Given the description of an element on the screen output the (x, y) to click on. 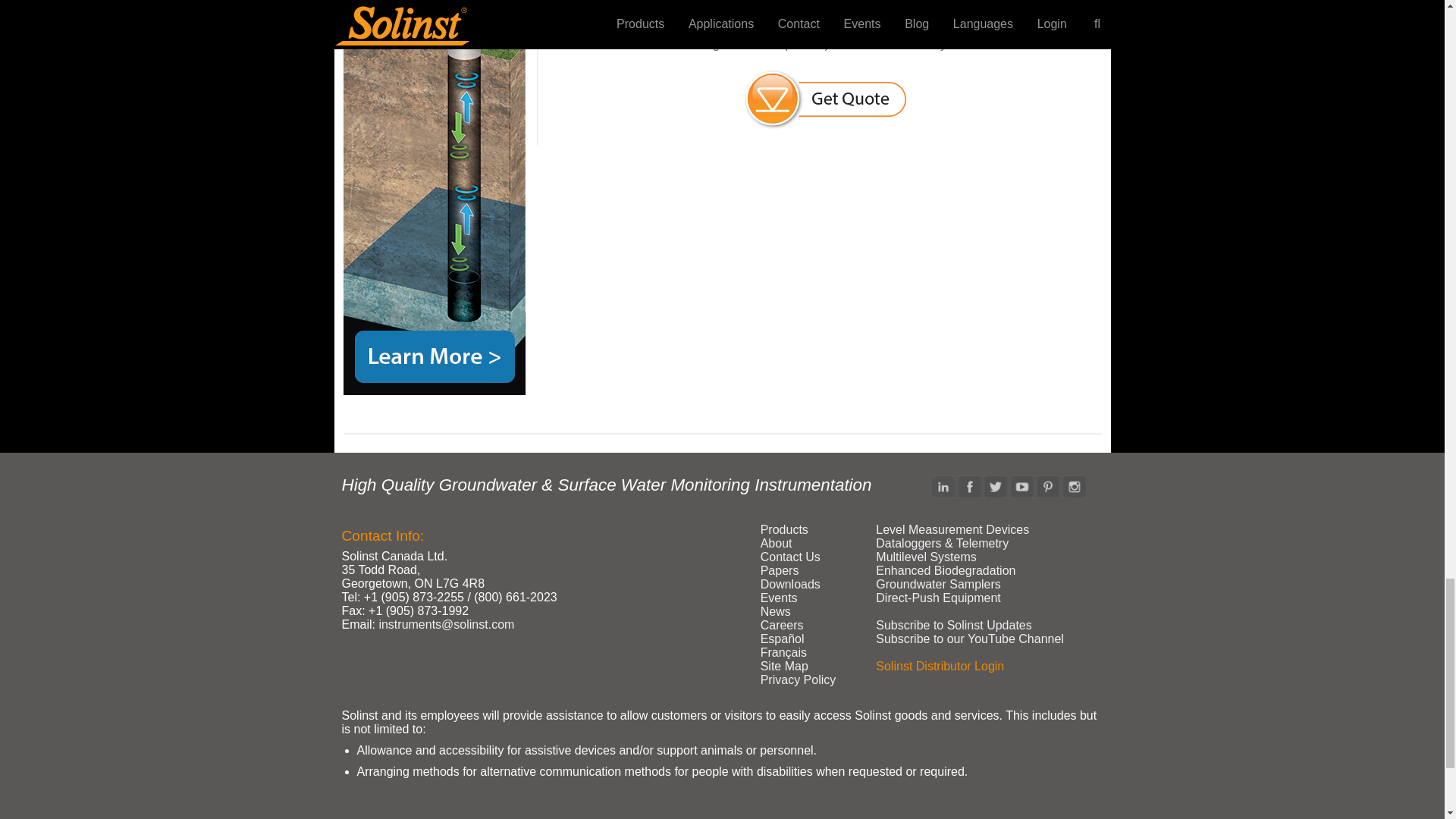
Solinst Sonic Water Level Meter (433, 197)
LinkedIn (943, 486)
Instagram (1074, 486)
Twitter (995, 486)
Facebook (969, 486)
YouTube (1021, 486)
Pinterest (1047, 486)
